Given the description of an element on the screen output the (x, y) to click on. 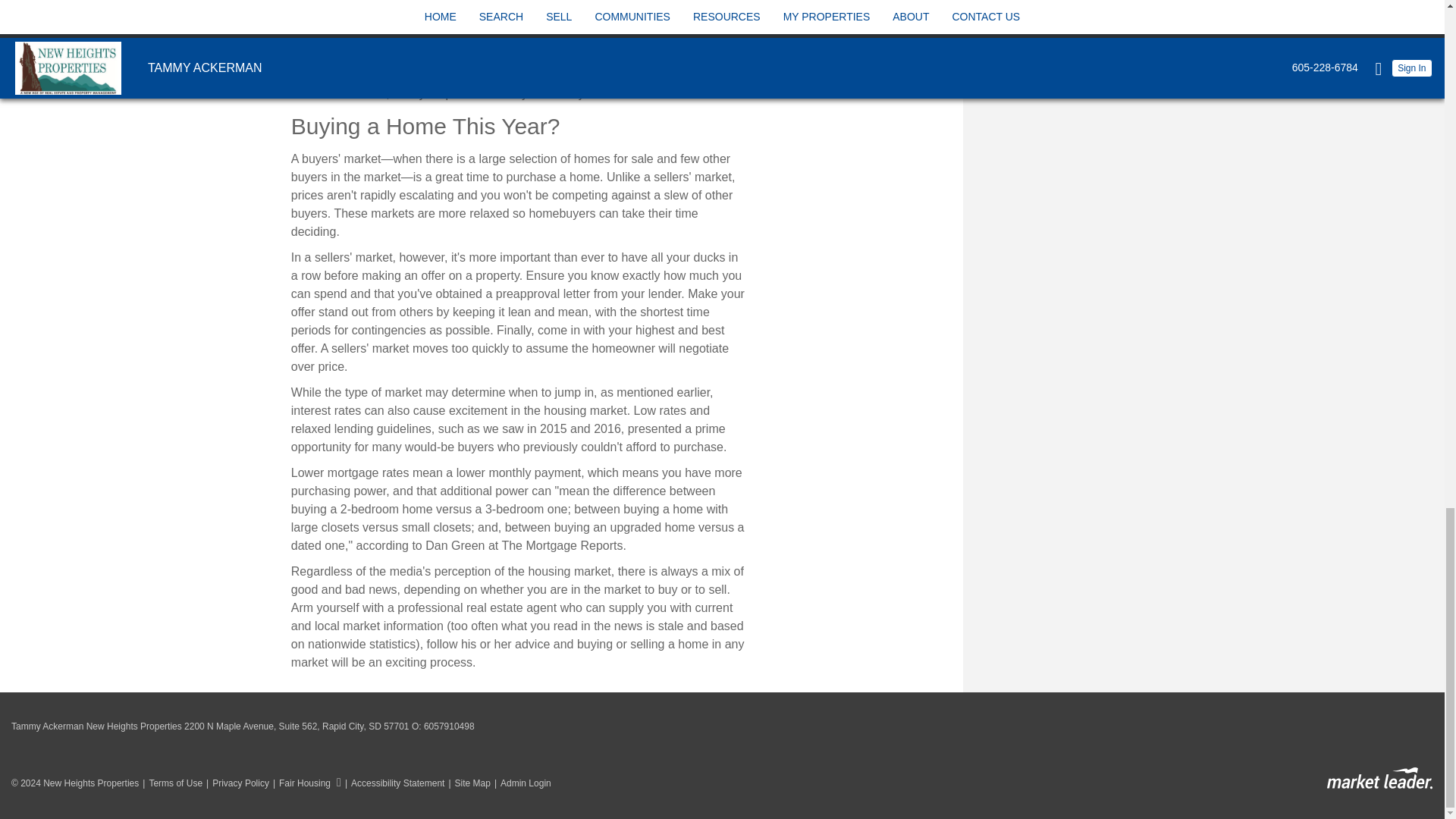
Fair Housing (304, 783)
Site Map (466, 783)
6057910498 (448, 726)
Powered By Market Leader (1379, 778)
Privacy Policy (235, 783)
Terms of Use (170, 783)
Admin Login (520, 783)
Accessibility Statement (392, 783)
